Given the description of an element on the screen output the (x, y) to click on. 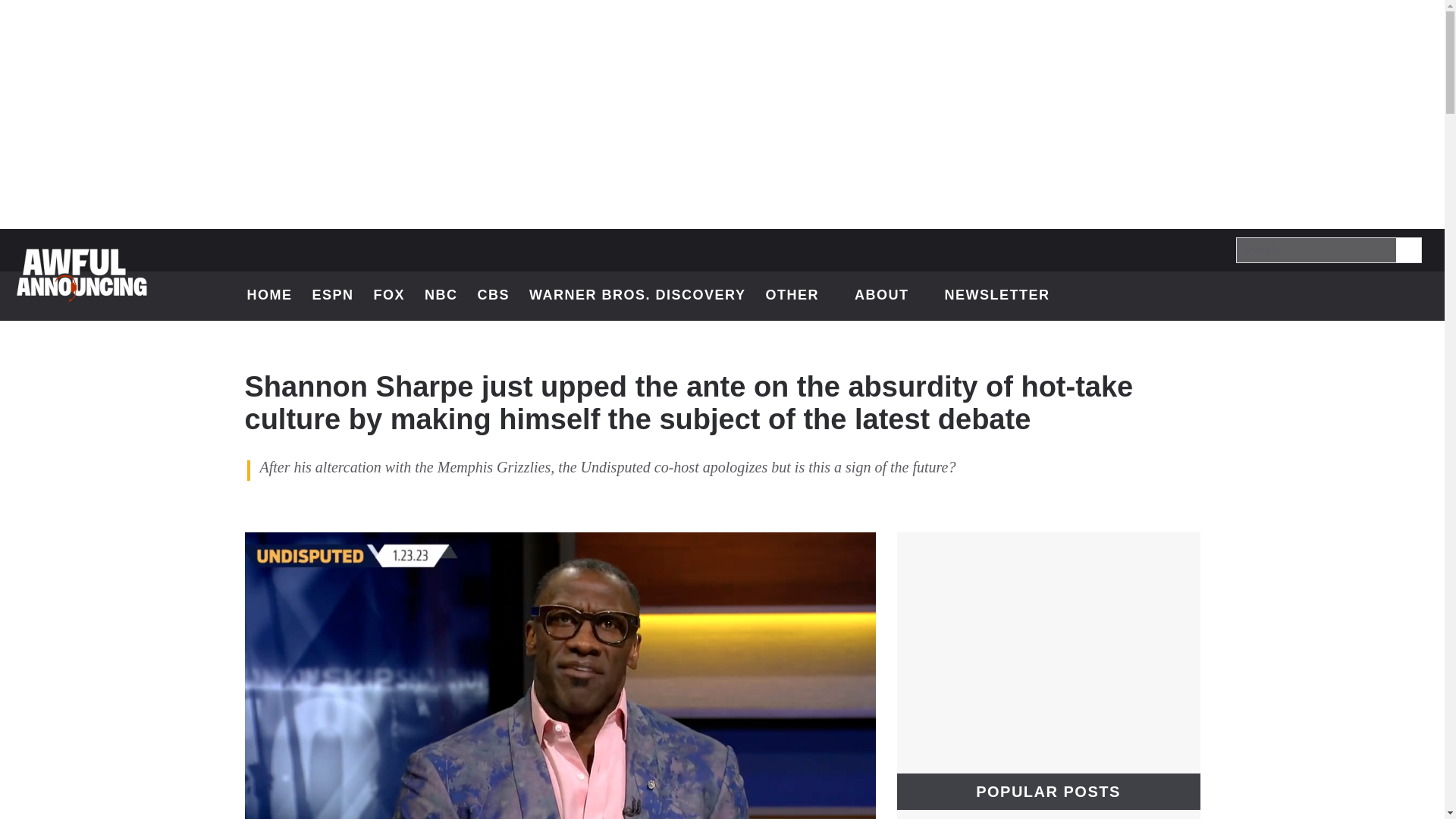
Link to Instagram (1375, 296)
ESPN (332, 296)
CBS (1409, 249)
Link to RSS (493, 296)
Link to Facebook (1414, 296)
WARNER BROS. DISCOVERY (1336, 296)
NEWSLETTER (636, 296)
NBC (996, 296)
HOME (441, 296)
